Given the description of an element on the screen output the (x, y) to click on. 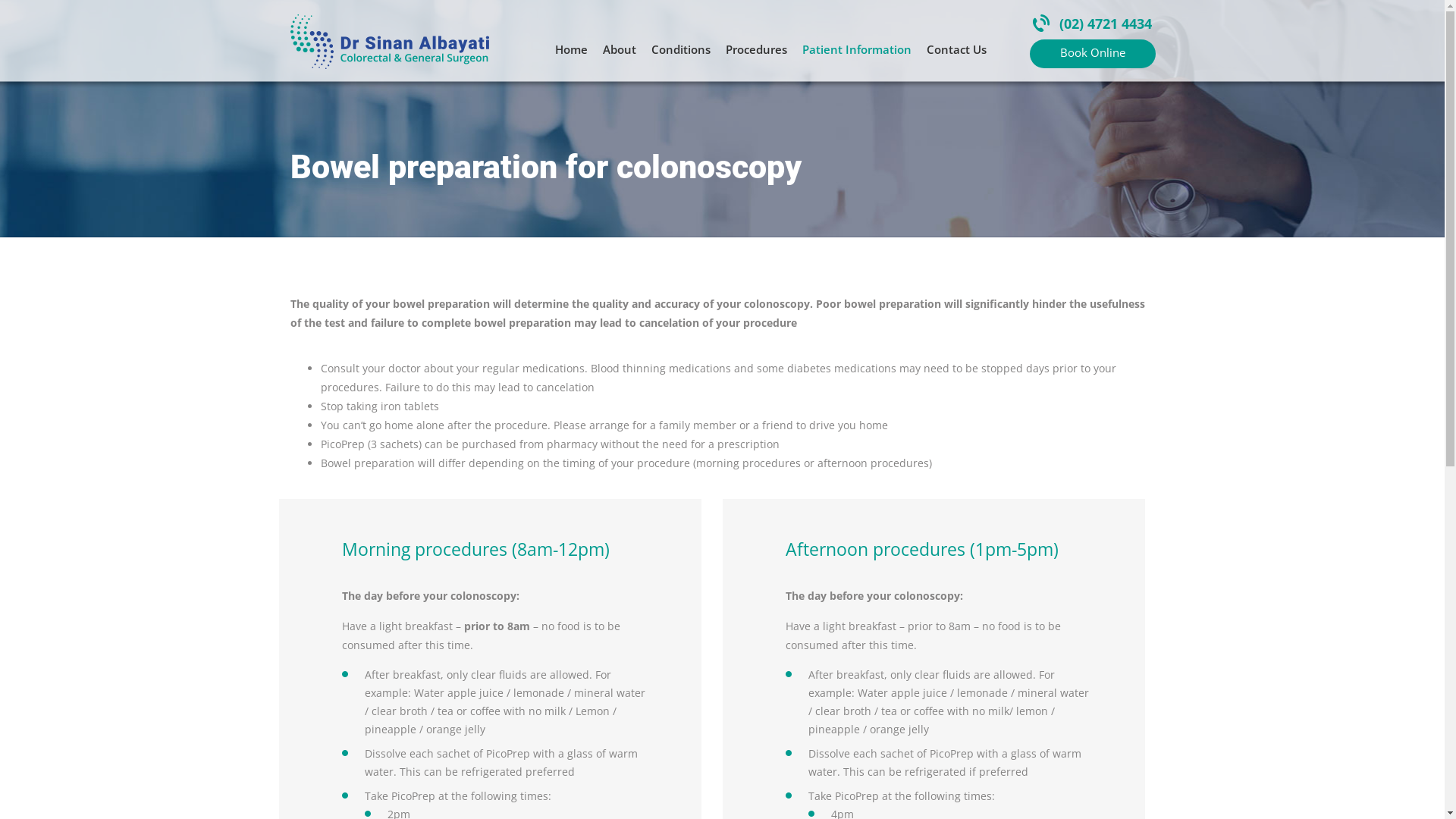
Book Online Element type: text (1092, 53)
(02) 4721 4434 Element type: text (1091, 23)
About Element type: text (619, 48)
Procedures Element type: text (756, 48)
Conditions Element type: text (680, 48)
Patient Information Element type: text (856, 48)
Contact Us Element type: text (956, 48)
Home Element type: text (571, 48)
